Given the description of an element on the screen output the (x, y) to click on. 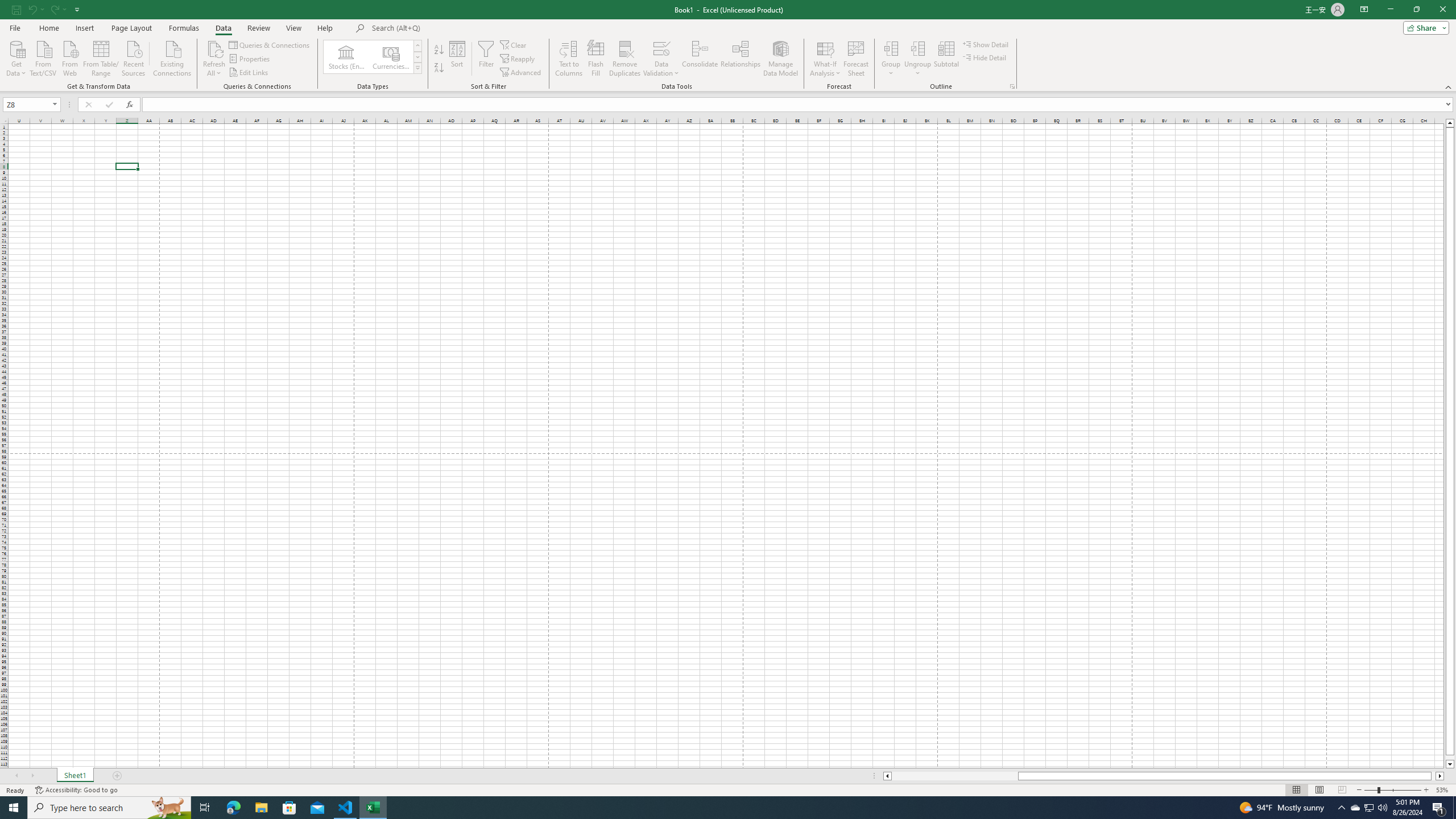
Sort... (456, 58)
Existing Connections (171, 57)
Queries & Connections (270, 44)
Text to Columns... (568, 58)
